Given the description of an element on the screen output the (x, y) to click on. 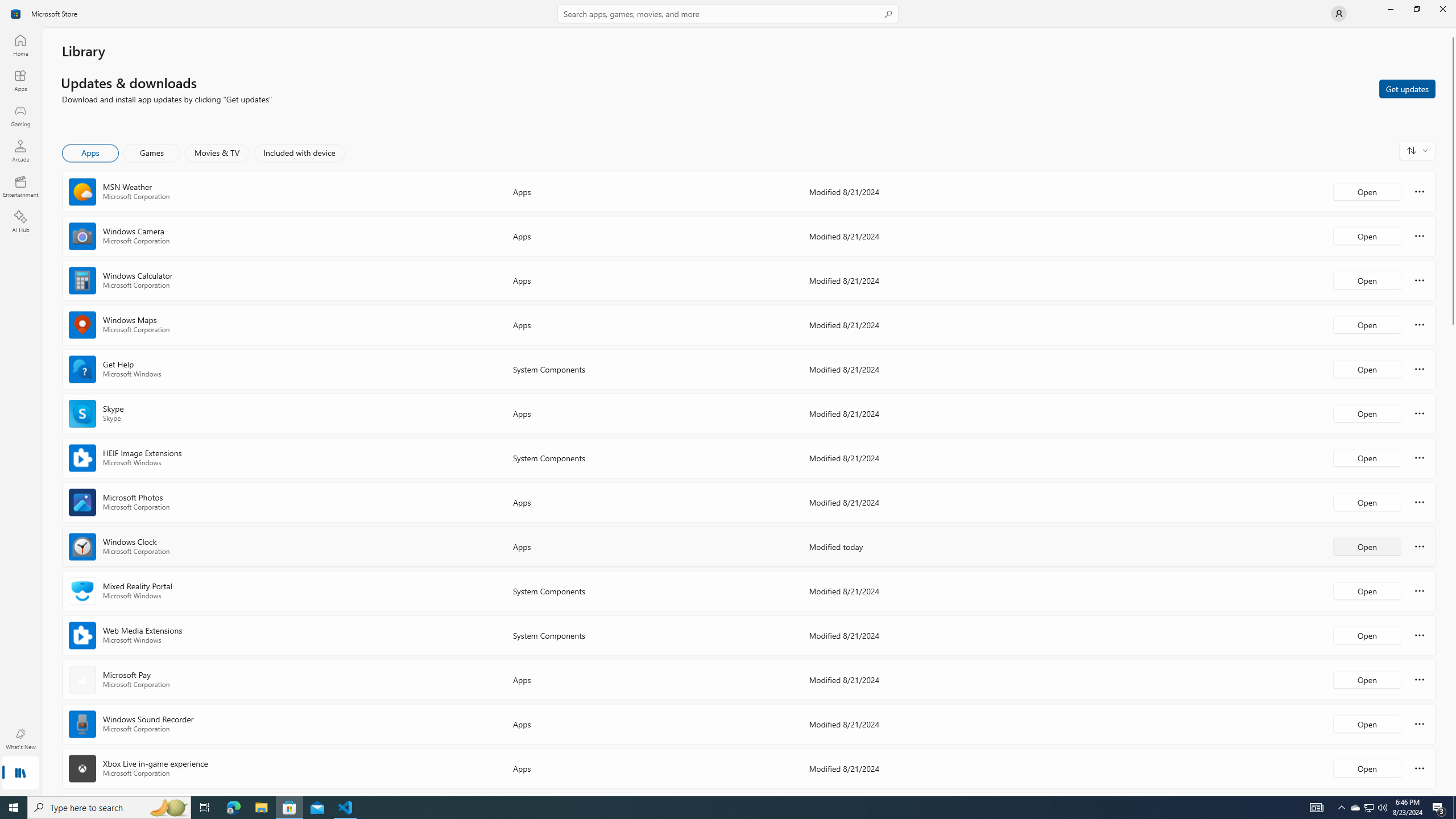
Vertical Small Increase (1452, 792)
Vertical Large Increase (1452, 557)
Get updates (1406, 88)
AutomationID: NavigationControl (728, 398)
Restore Microsoft Store (1416, 9)
Home (20, 45)
Gaming (20, 115)
Minimize Microsoft Store (1390, 9)
Sort and filter (1417, 149)
Vertical Small Decrease (1452, 31)
Class: Image (15, 13)
Included with device (299, 153)
